Given the description of an element on the screen output the (x, y) to click on. 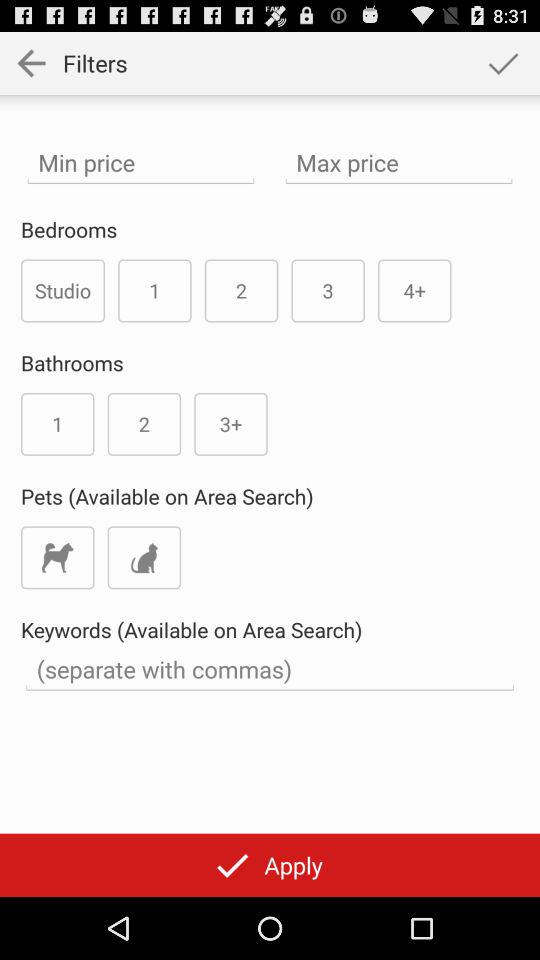
highest price (398, 162)
